Given the description of an element on the screen output the (x, y) to click on. 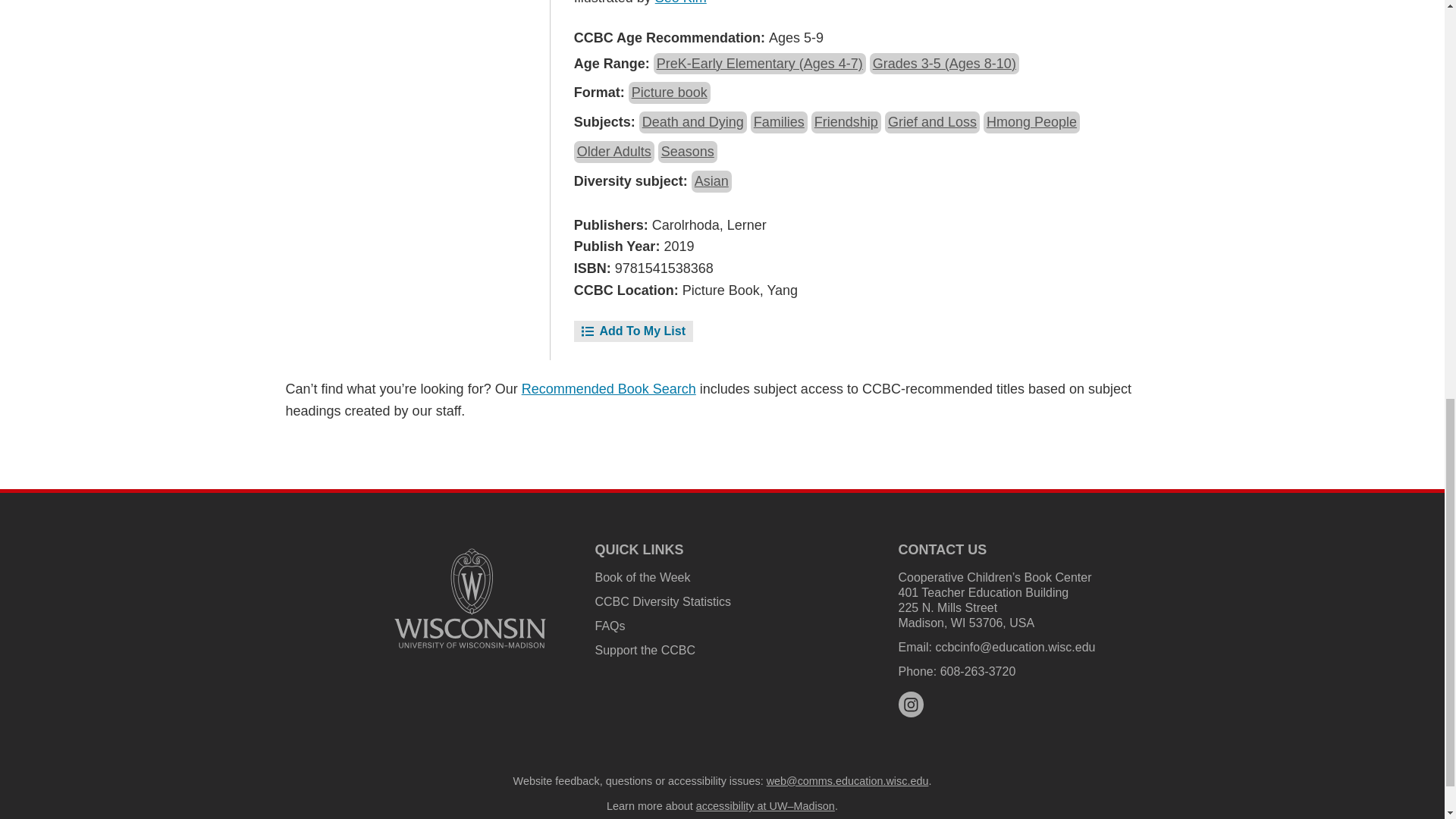
University logo that links to main university website (470, 598)
instagram (910, 704)
